Given the description of an element on the screen output the (x, y) to click on. 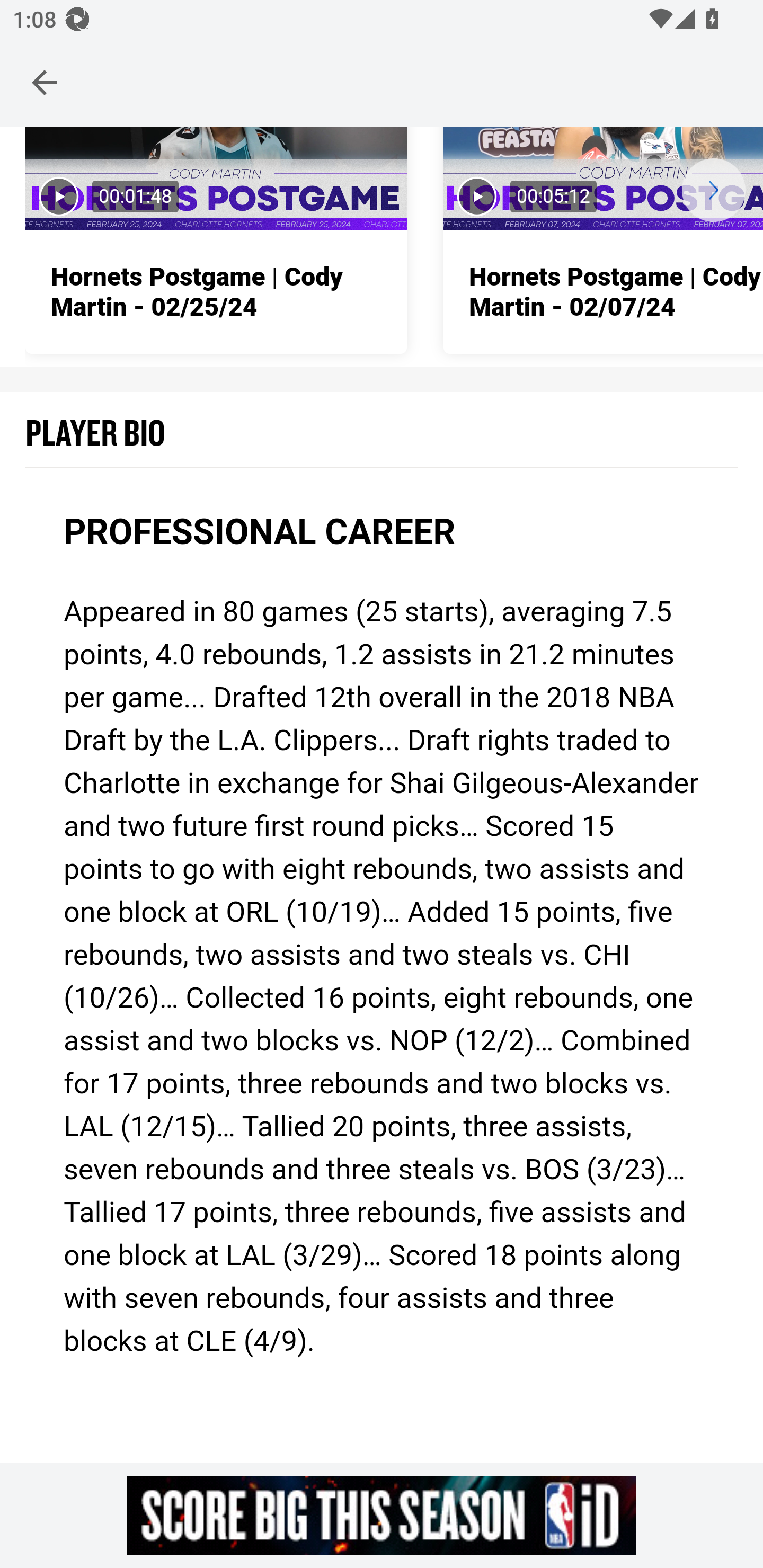
Navigate up (44, 82)
Carousel Button (713, 189)
